Given the description of an element on the screen output the (x, y) to click on. 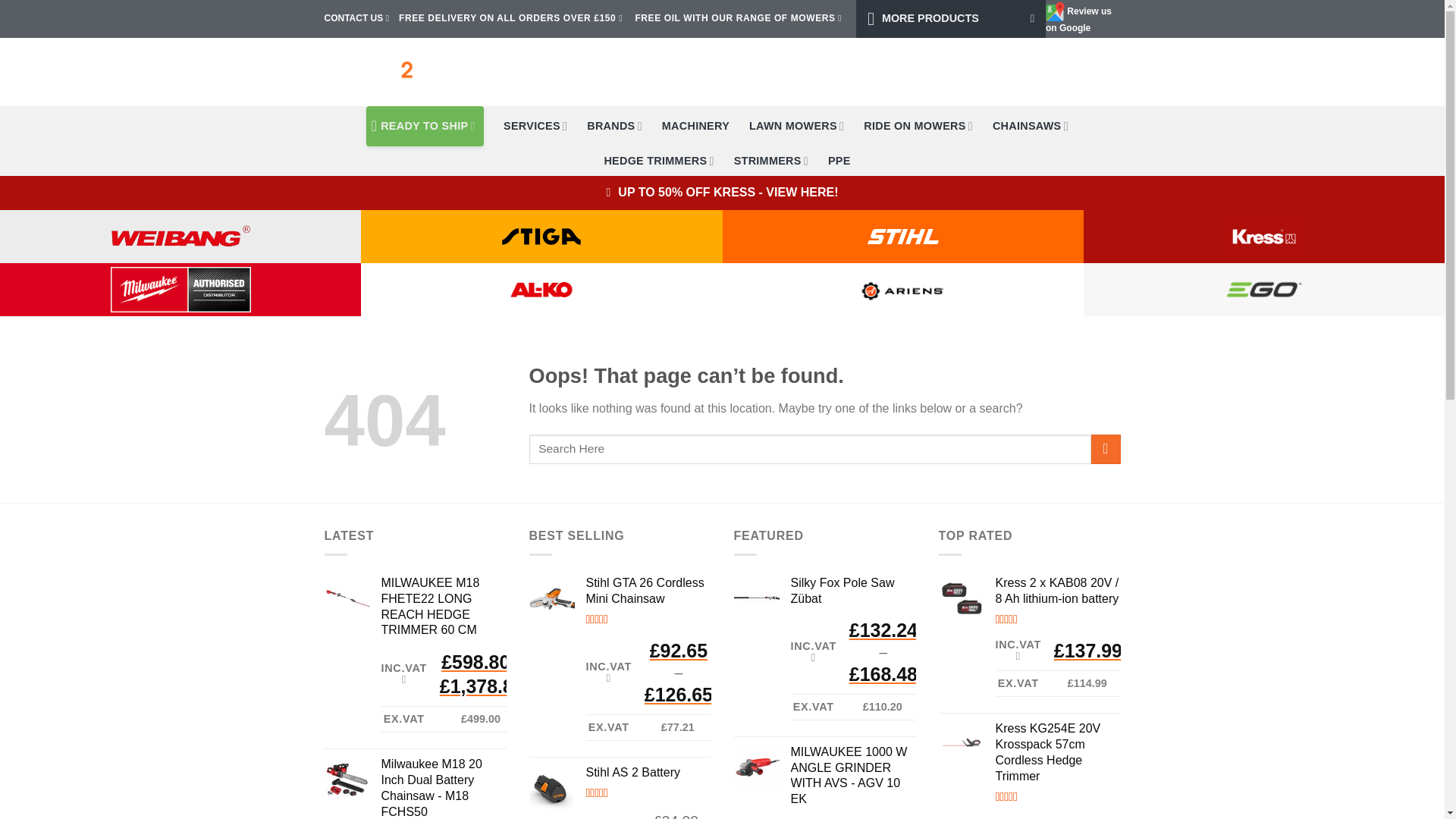
CONTACT US (354, 18)
Login (1037, 71)
Basket (1097, 71)
Contact Mowers2Go Team (354, 18)
